Given the description of an element on the screen output the (x, y) to click on. 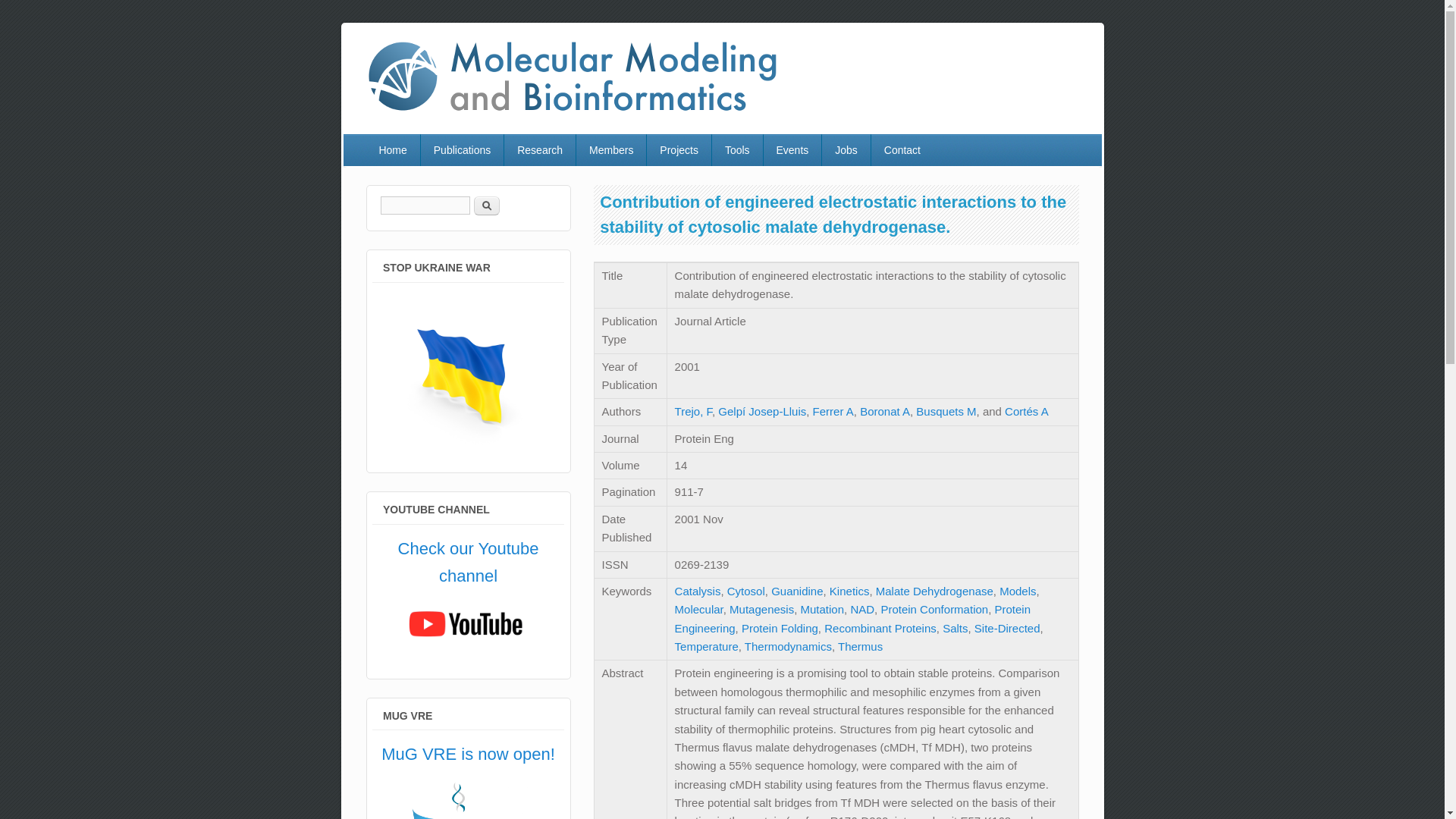
Protein Conformation (934, 608)
Enter the terms you wish to search for. (425, 205)
Home (392, 150)
Publications (461, 150)
Group developed tools (736, 150)
Guanidine (796, 590)
Trejo, F (693, 410)
Research (539, 150)
Catalysis (697, 590)
Members (611, 150)
